Given the description of an element on the screen output the (x, y) to click on. 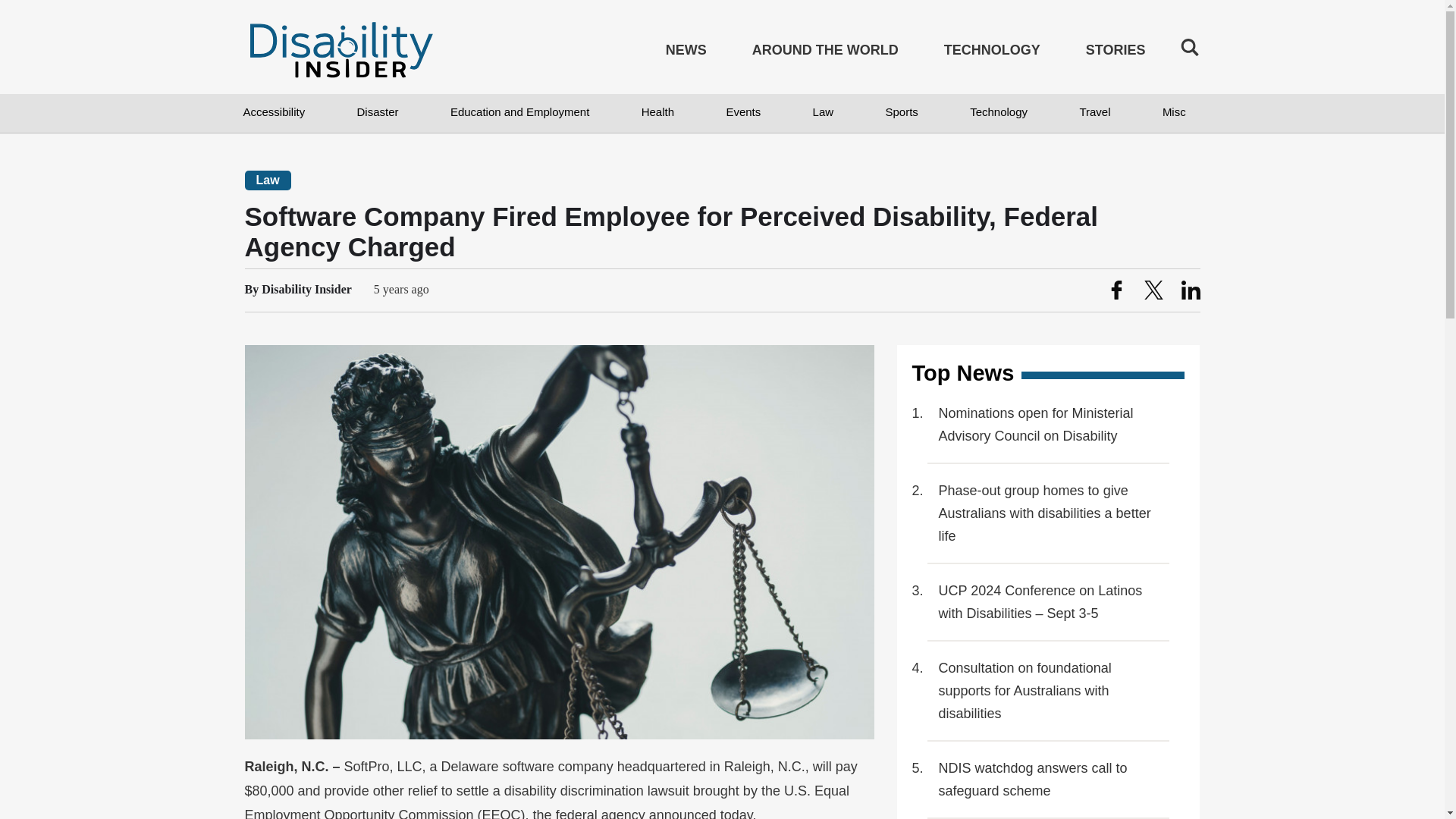
NDIS watchdog answers call to safeguard scheme (1048, 779)
Education and Employment (519, 113)
Disaster (377, 113)
STORIES (1115, 53)
Events (742, 113)
NEWS (685, 53)
Accessibility (273, 113)
